Given the description of an element on the screen output the (x, y) to click on. 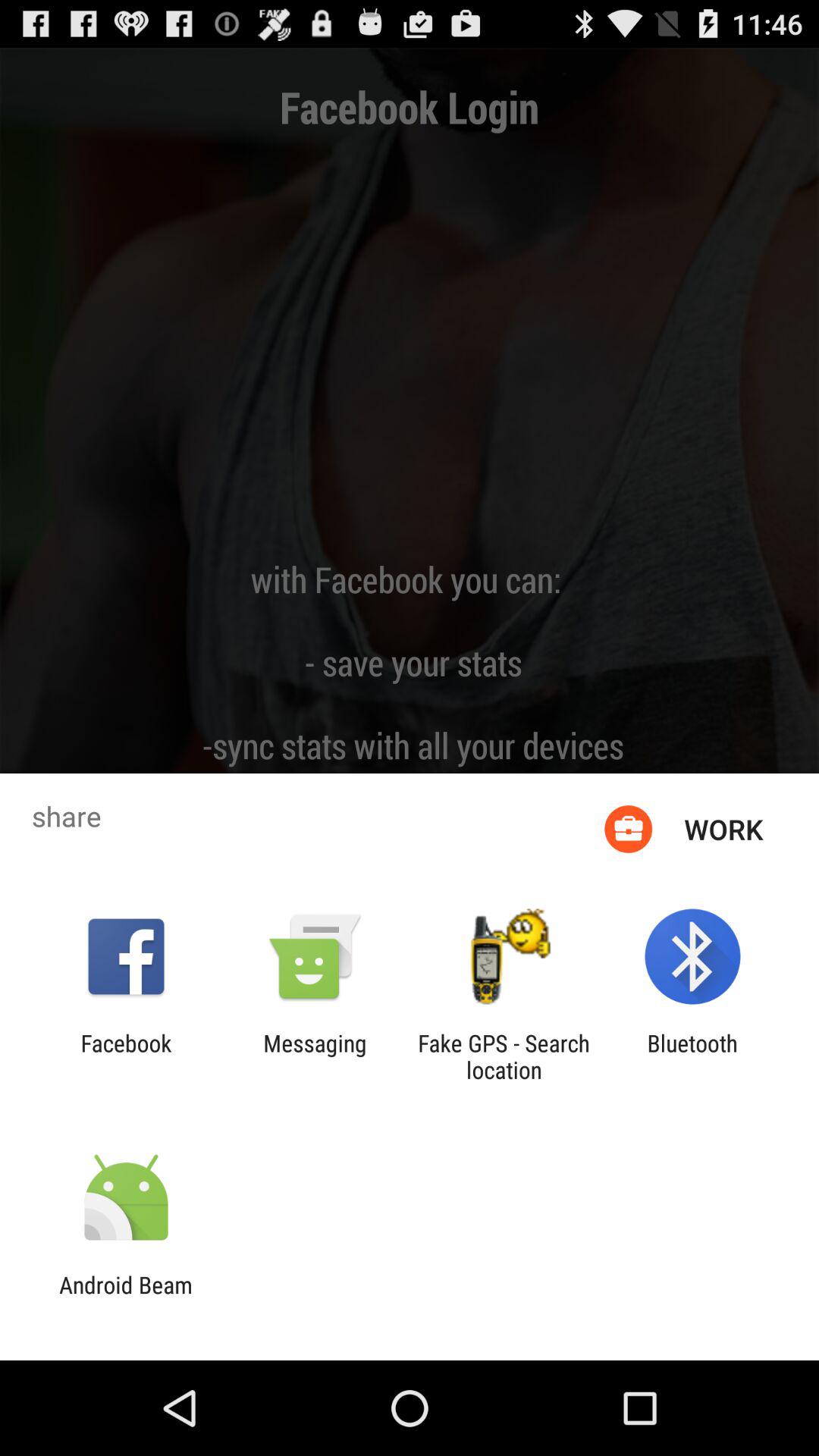
tap the bluetooth at the bottom right corner (692, 1056)
